Given the description of an element on the screen output the (x, y) to click on. 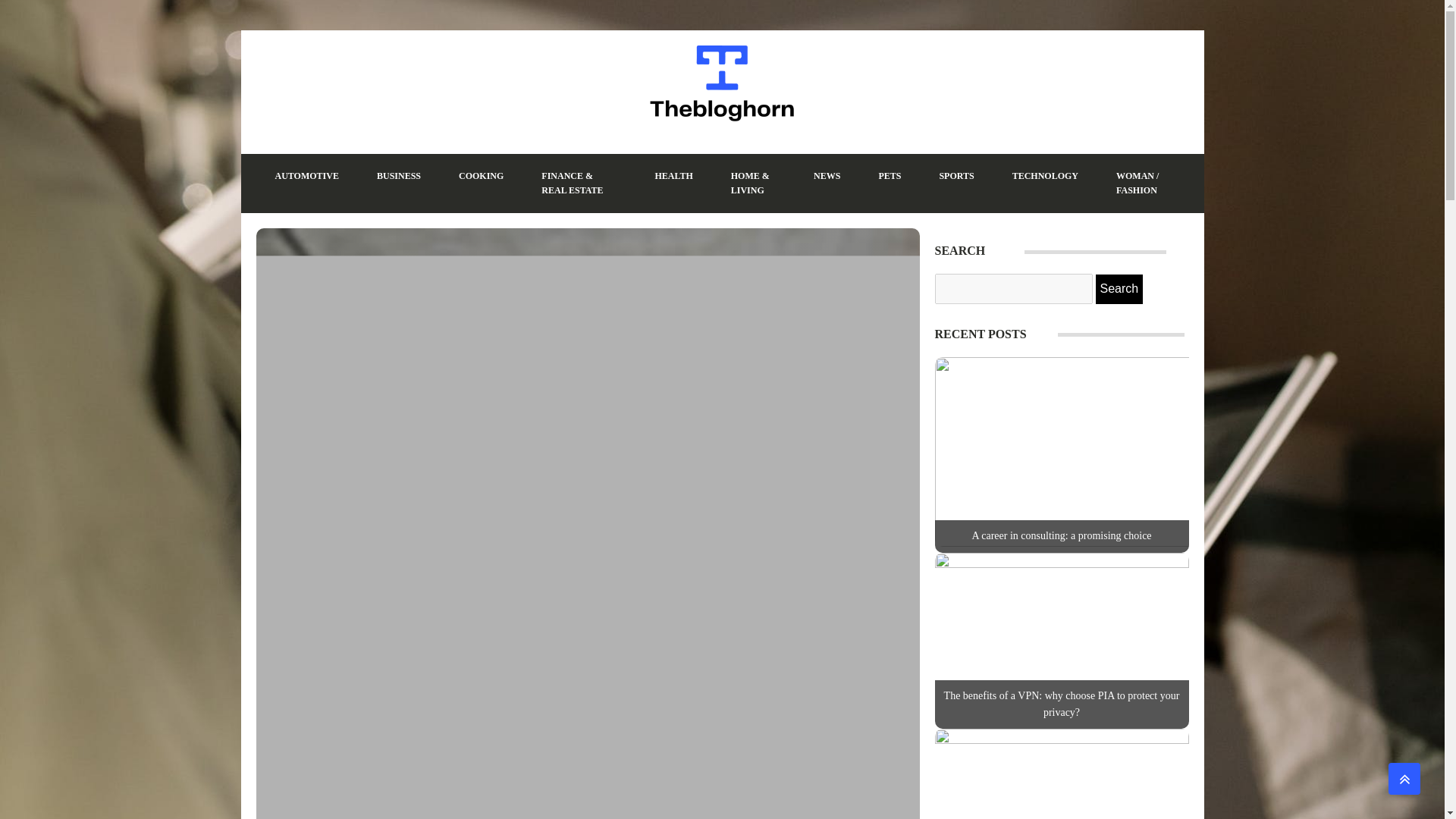
BUSINESS (398, 176)
SPORTS (956, 176)
AUTOMOTIVE (307, 176)
NEWS (826, 176)
COOKING (480, 176)
PETS (889, 176)
HEALTH (672, 176)
